Given the description of an element on the screen output the (x, y) to click on. 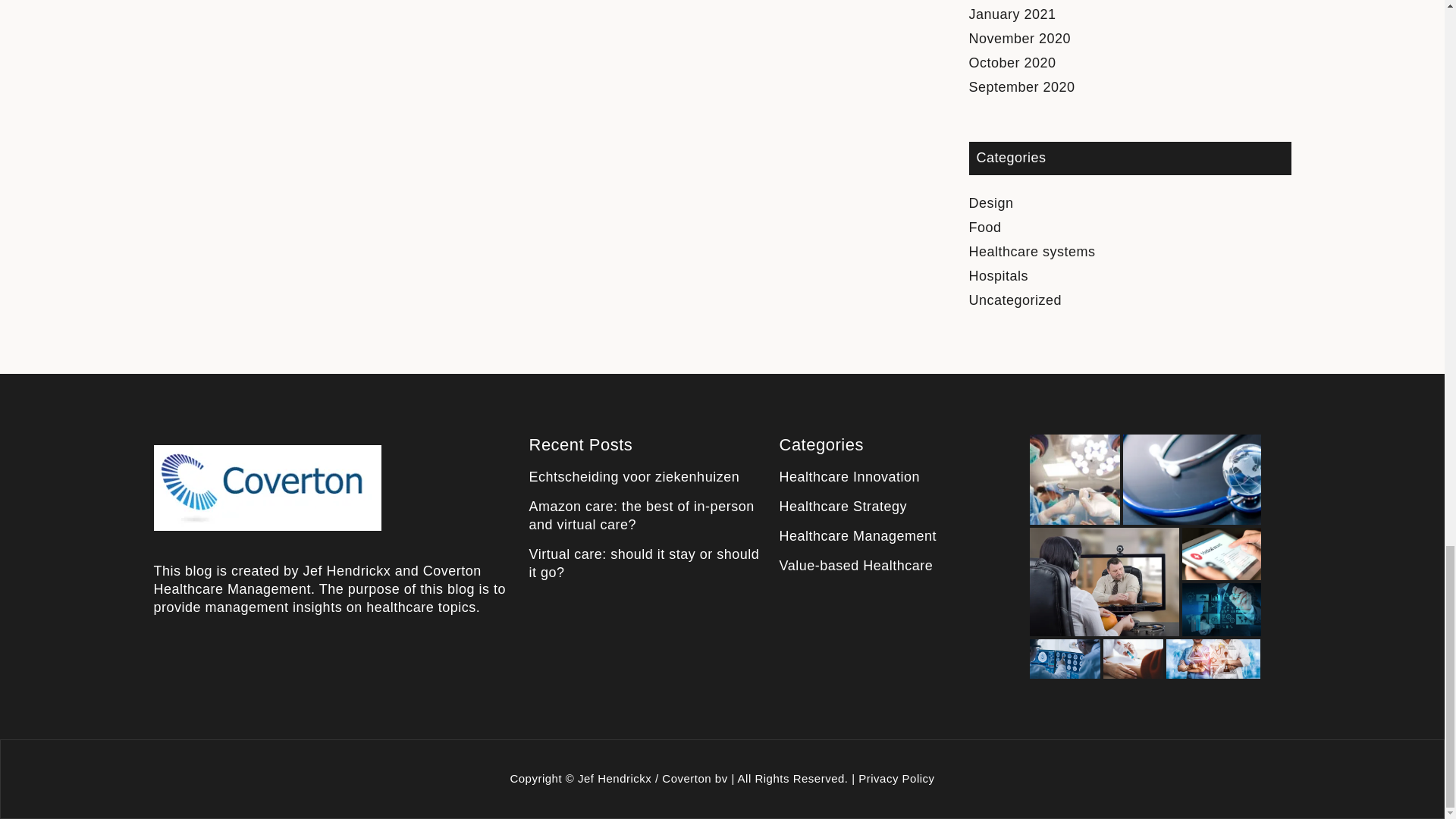
Hospitals (999, 275)
Value-based Healthcare (855, 565)
Healthcare Strategy (842, 506)
January 2021 (1013, 14)
November 2020 (1020, 38)
Privacy Policy (896, 778)
October 2020 (1013, 62)
Virtual care: should it stay or should it go? (644, 563)
Healthcare Management (857, 535)
September 2020 (1022, 87)
